Given the description of an element on the screen output the (x, y) to click on. 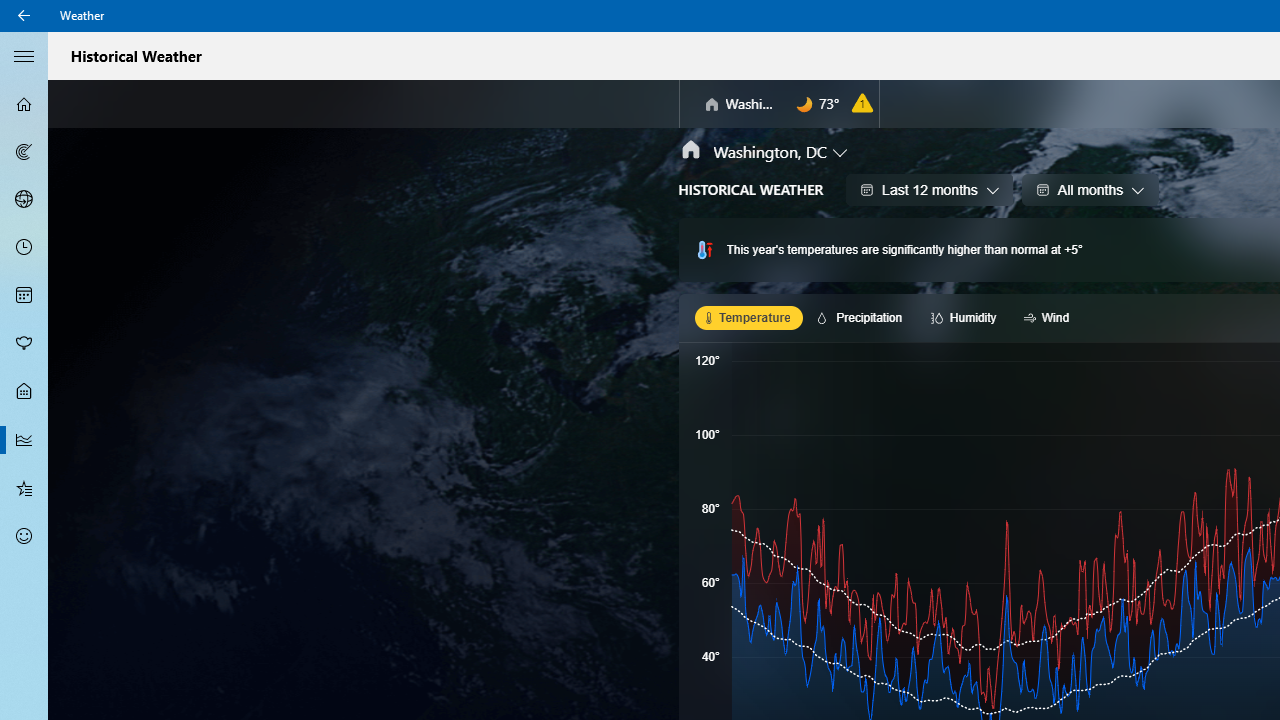
Hourly Forecast - Not Selected (24, 247)
Monthly Forecast - Not Selected (24, 295)
Send Feedback - Not Selected (24, 535)
Pollen - Not Selected (24, 343)
Historical Weather - Not Selected (24, 439)
Back (24, 15)
Forecast - Not Selected (24, 103)
